Given the description of an element on the screen output the (x, y) to click on. 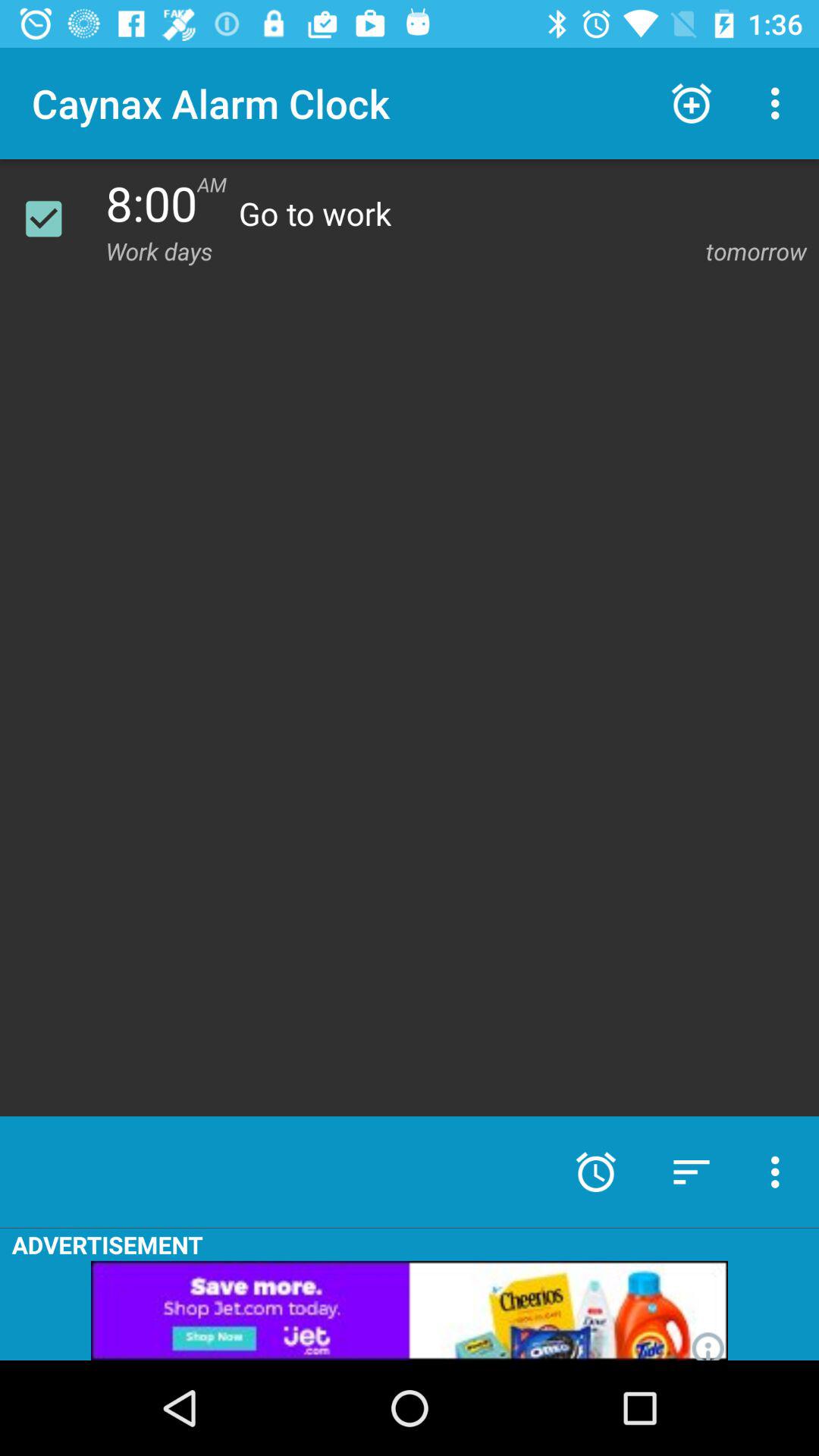
open advertisement (409, 1310)
